Given the description of an element on the screen output the (x, y) to click on. 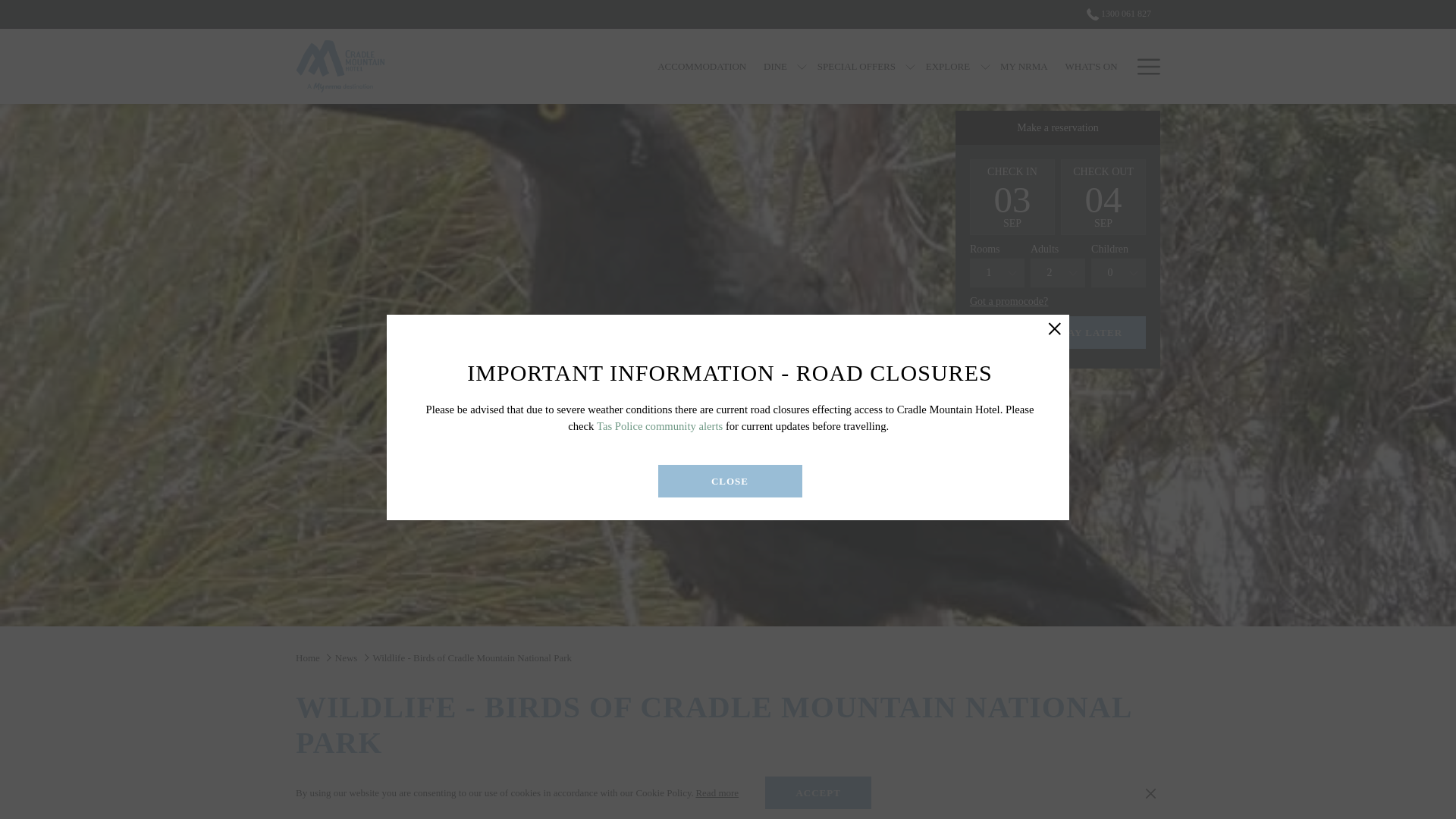
Back to the homepage (339, 66)
 2  (1057, 272)
SPECIAL OFFERS (856, 66)
Got a promocode? (1008, 301)
 1  (997, 272)
EXPLORE (947, 66)
WHAT'S ON (1091, 66)
Read more (717, 792)
Menu (1148, 66)
ACCOMMODATION (702, 66)
